Given the description of an element on the screen output the (x, y) to click on. 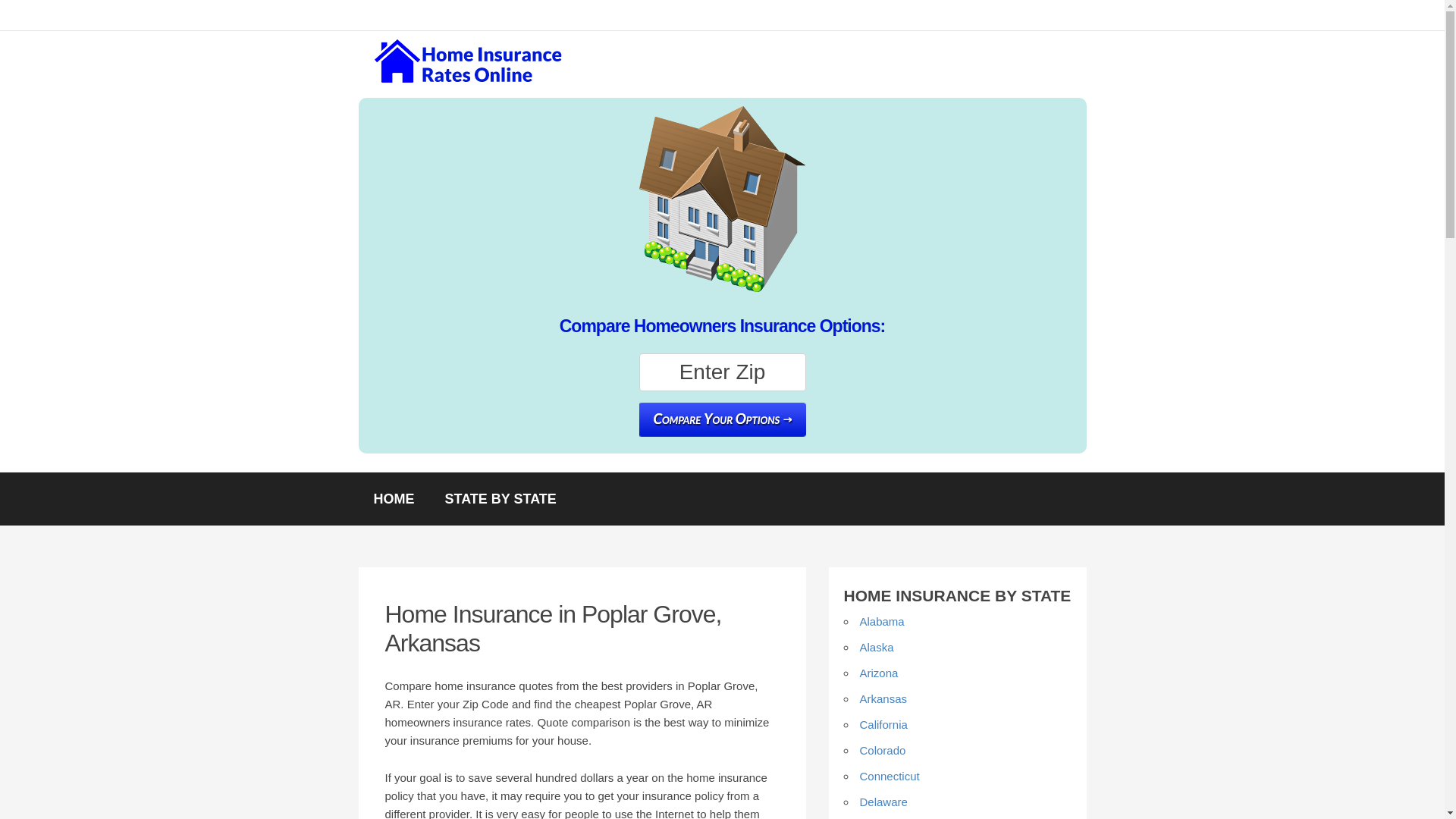
California (883, 724)
Arkansas (883, 698)
HOME (393, 498)
STATE BY STATE (499, 498)
Alabama (882, 621)
Delaware (883, 801)
Enter Zip (722, 371)
Connecticut (890, 775)
Arizona (879, 672)
Colorado (882, 749)
Alaska (876, 646)
